Given the description of an element on the screen output the (x, y) to click on. 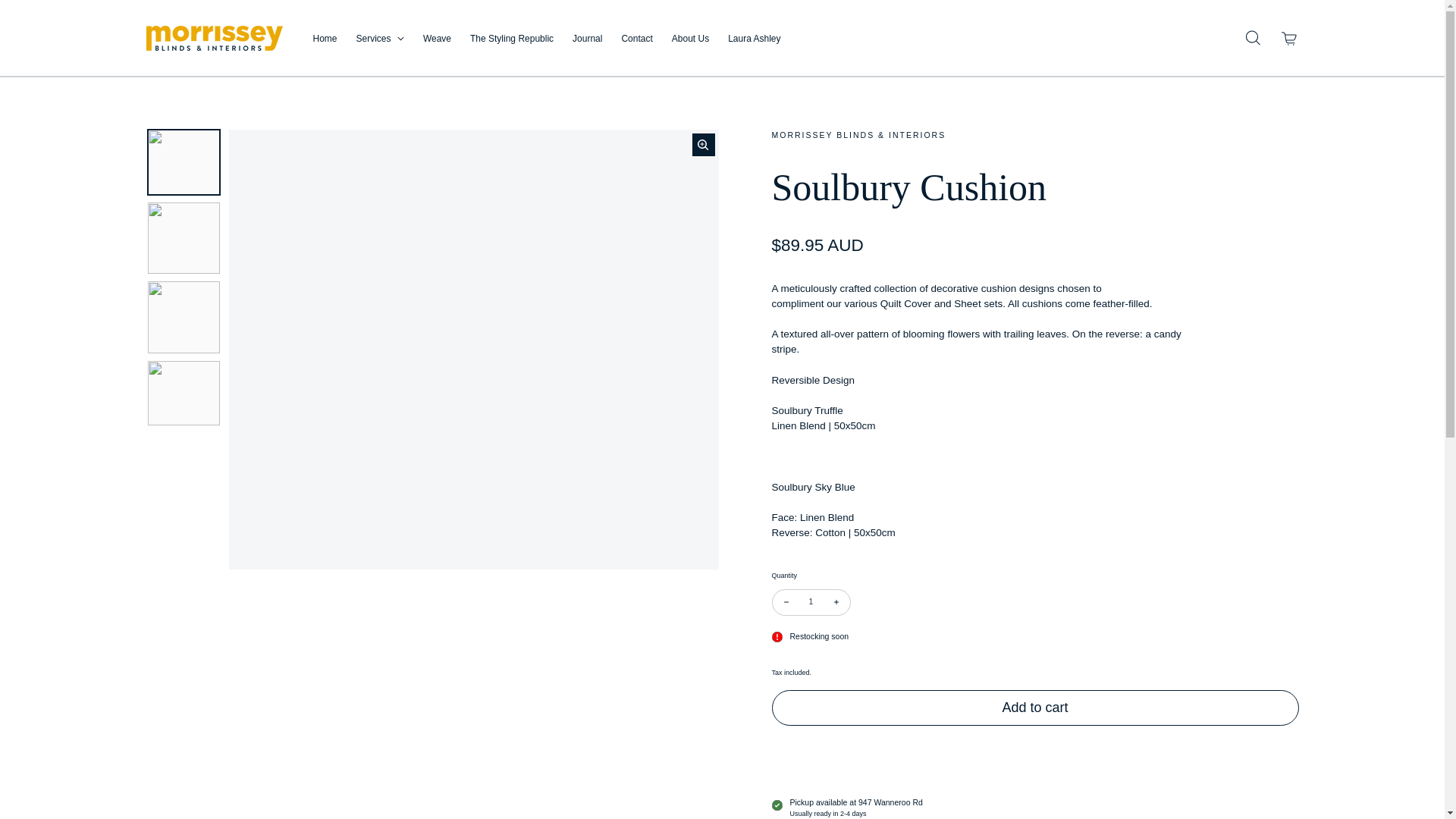
Weave (437, 38)
Laura Ashley (754, 38)
Home (324, 38)
Contact (636, 38)
Services (380, 38)
About Us (690, 38)
The Styling Republic (511, 38)
Journal (587, 38)
